Given the description of an element on the screen output the (x, y) to click on. 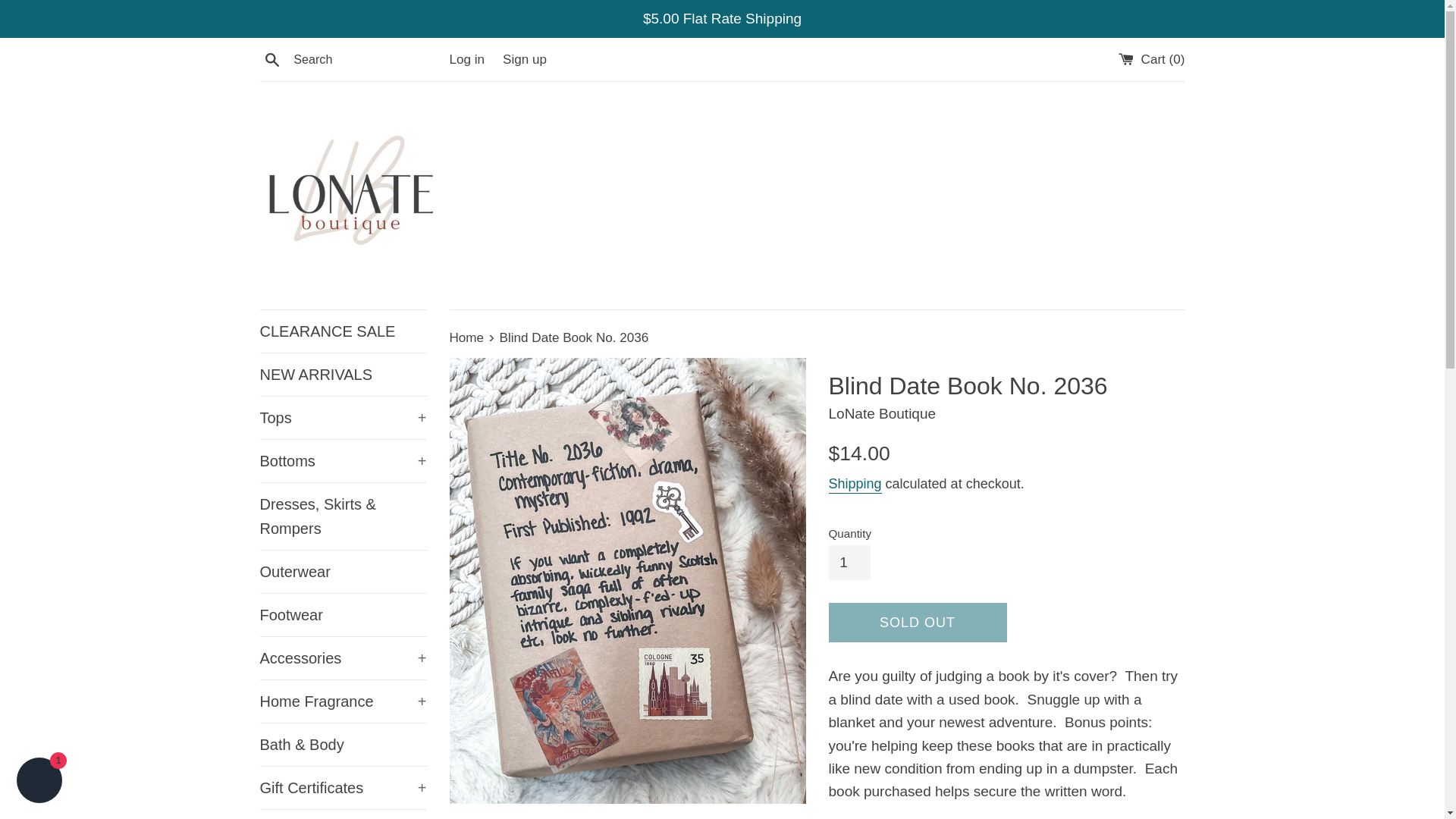
Footwear (342, 614)
Back to the frontpage (467, 337)
Search (271, 58)
CLEARANCE SALE (342, 331)
Outerwear (342, 571)
Sign up (524, 59)
Home (467, 337)
Log in (466, 59)
Shopify online store chat (38, 781)
1 (848, 562)
NEW ARRIVALS (342, 373)
